Given the description of an element on the screen output the (x, y) to click on. 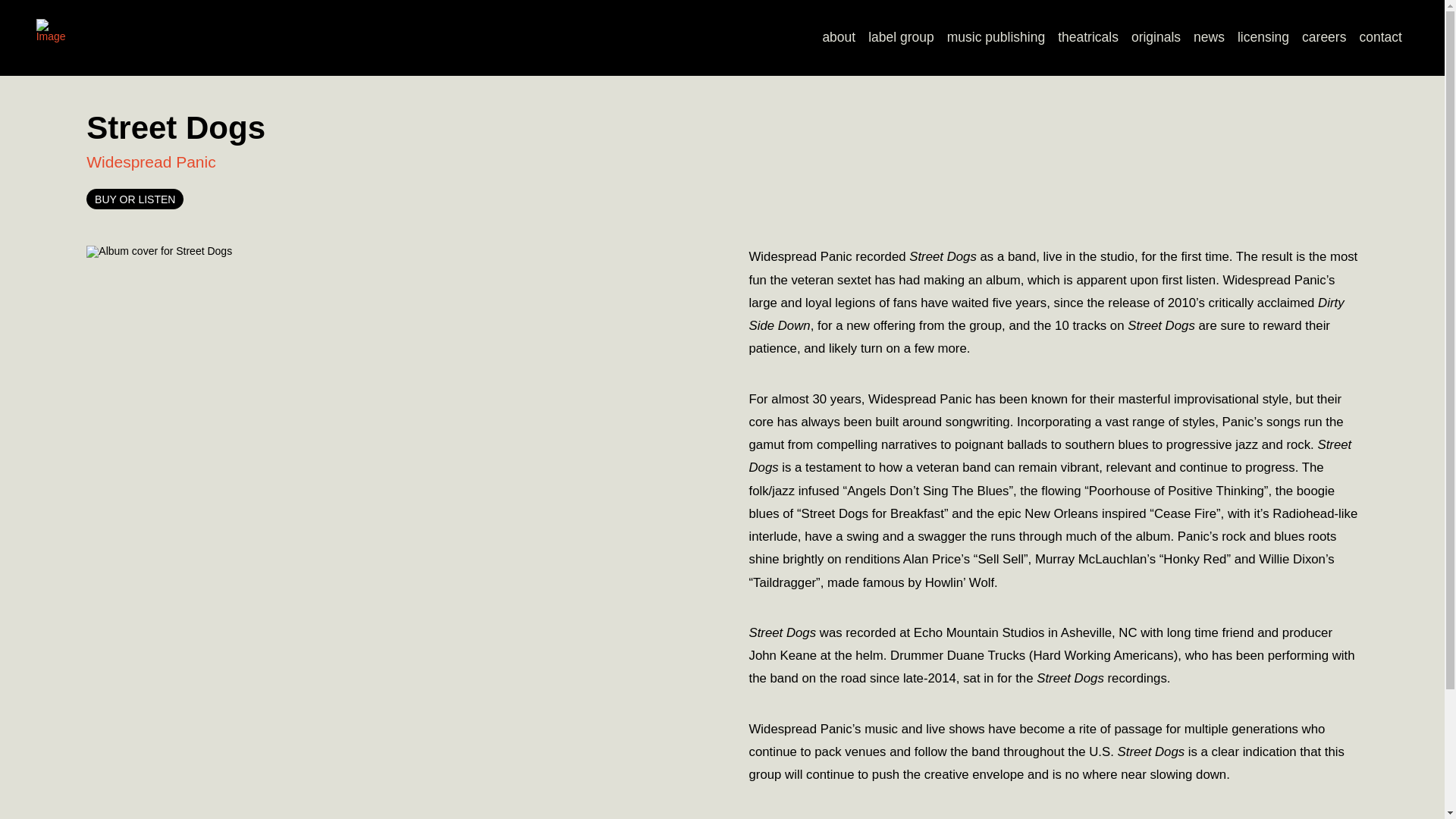
theatricals (1088, 38)
contact (1379, 38)
about (838, 38)
licensing (1262, 38)
careers (1323, 38)
label group (900, 38)
originals (1155, 38)
news (1209, 38)
music publishing (995, 38)
